Given the description of an element on the screen output the (x, y) to click on. 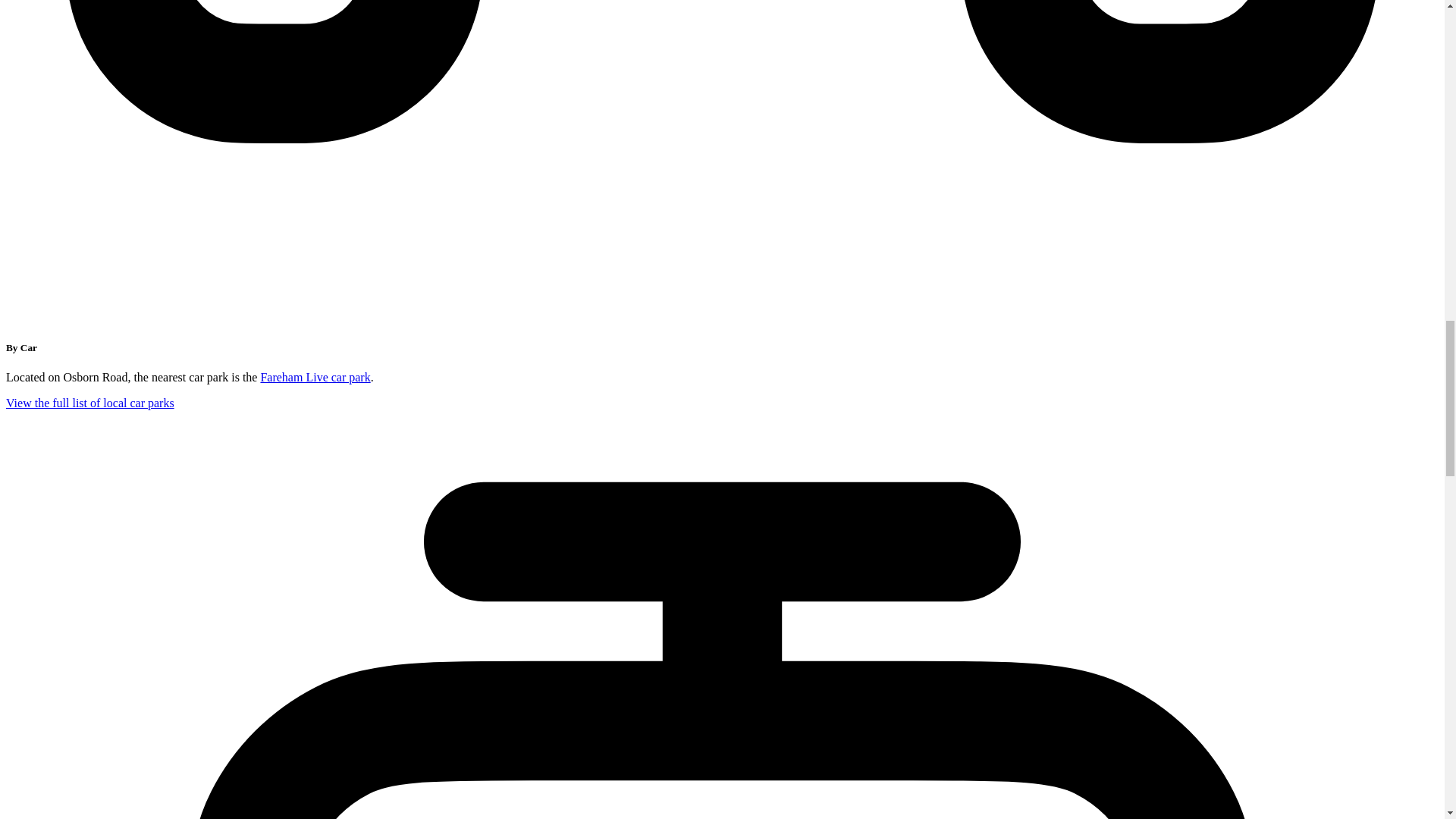
View the full list of local car parks (89, 402)
Fareham Live car park (314, 377)
